Given the description of an element on the screen output the (x, y) to click on. 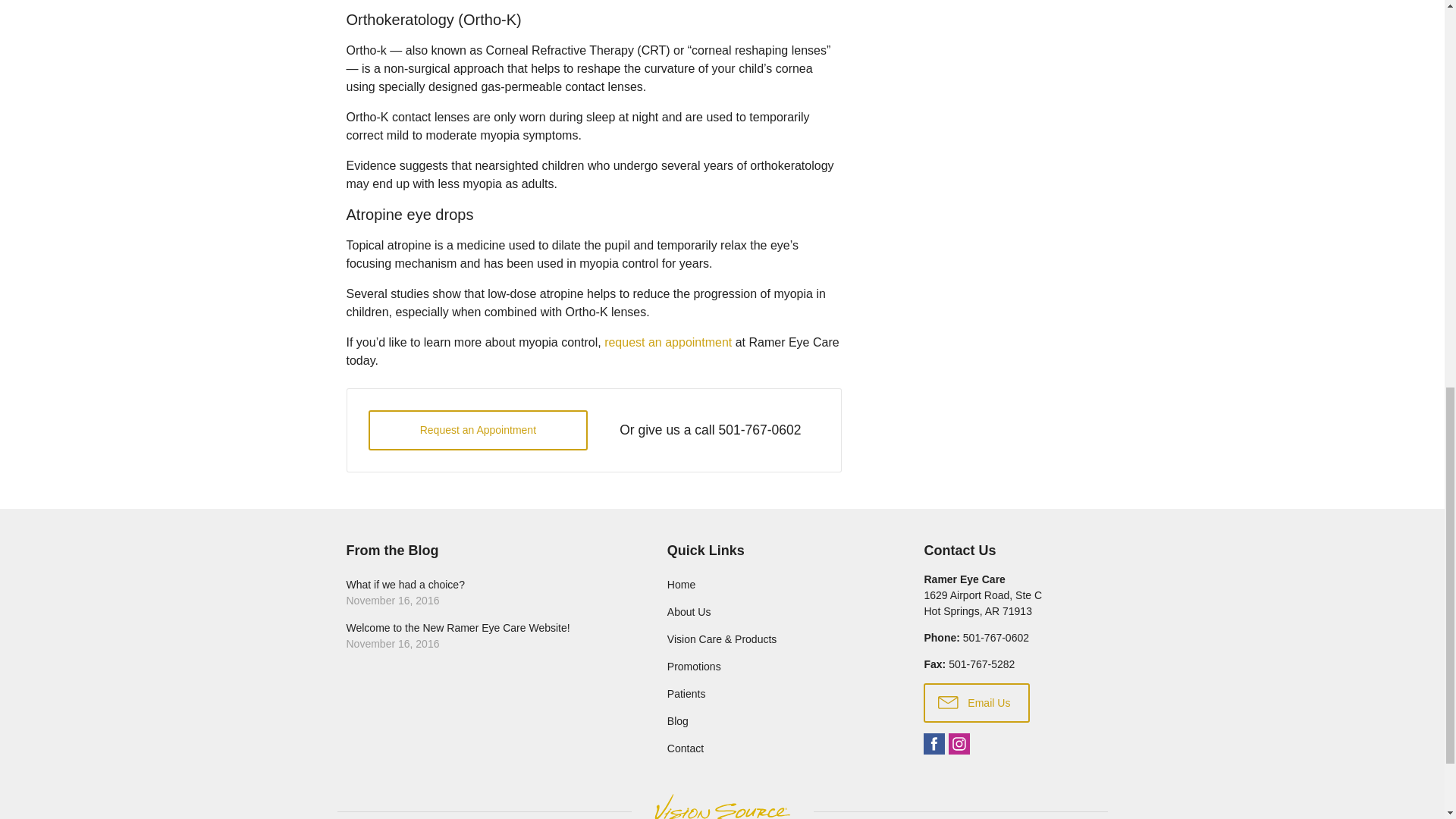
Request an Appointment (478, 430)
501-767-0602 (758, 429)
request an appointment (668, 341)
Contact practice (995, 637)
Open this address in Google Maps (982, 602)
Request an Appointment (478, 430)
Go to our Instagram Page (959, 743)
Call the practice (758, 429)
Go to our Facebook Page (933, 743)
